Given the description of an element on the screen output the (x, y) to click on. 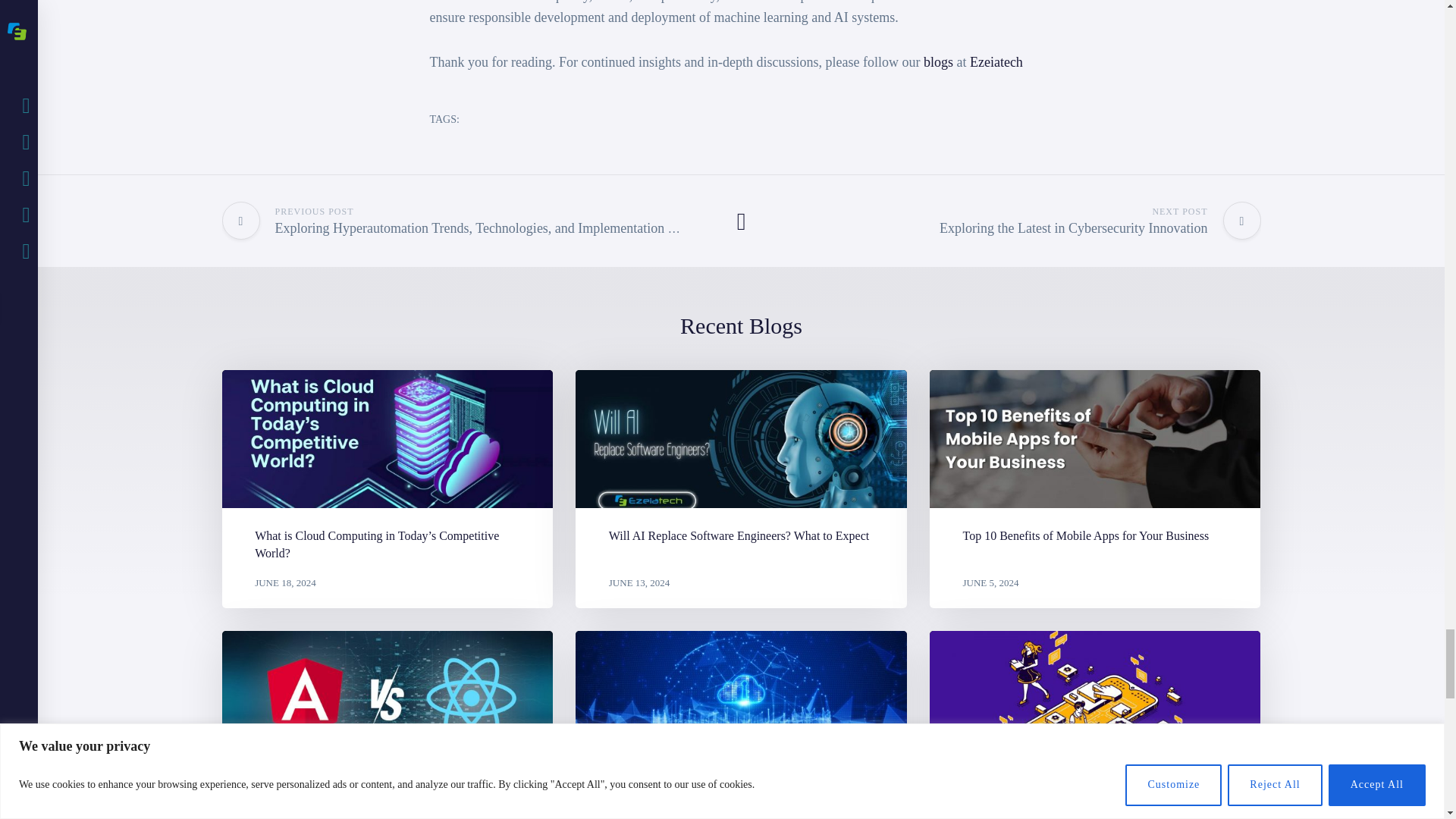
Will AI replace Software Engineers (741, 438)
Top 10 Benefits of Mobile Apps for Your Business (1095, 438)
Angular vs React (387, 699)
Cloud Computing (741, 699)
Mobile App Development (1095, 699)
